Given the description of an element on the screen output the (x, y) to click on. 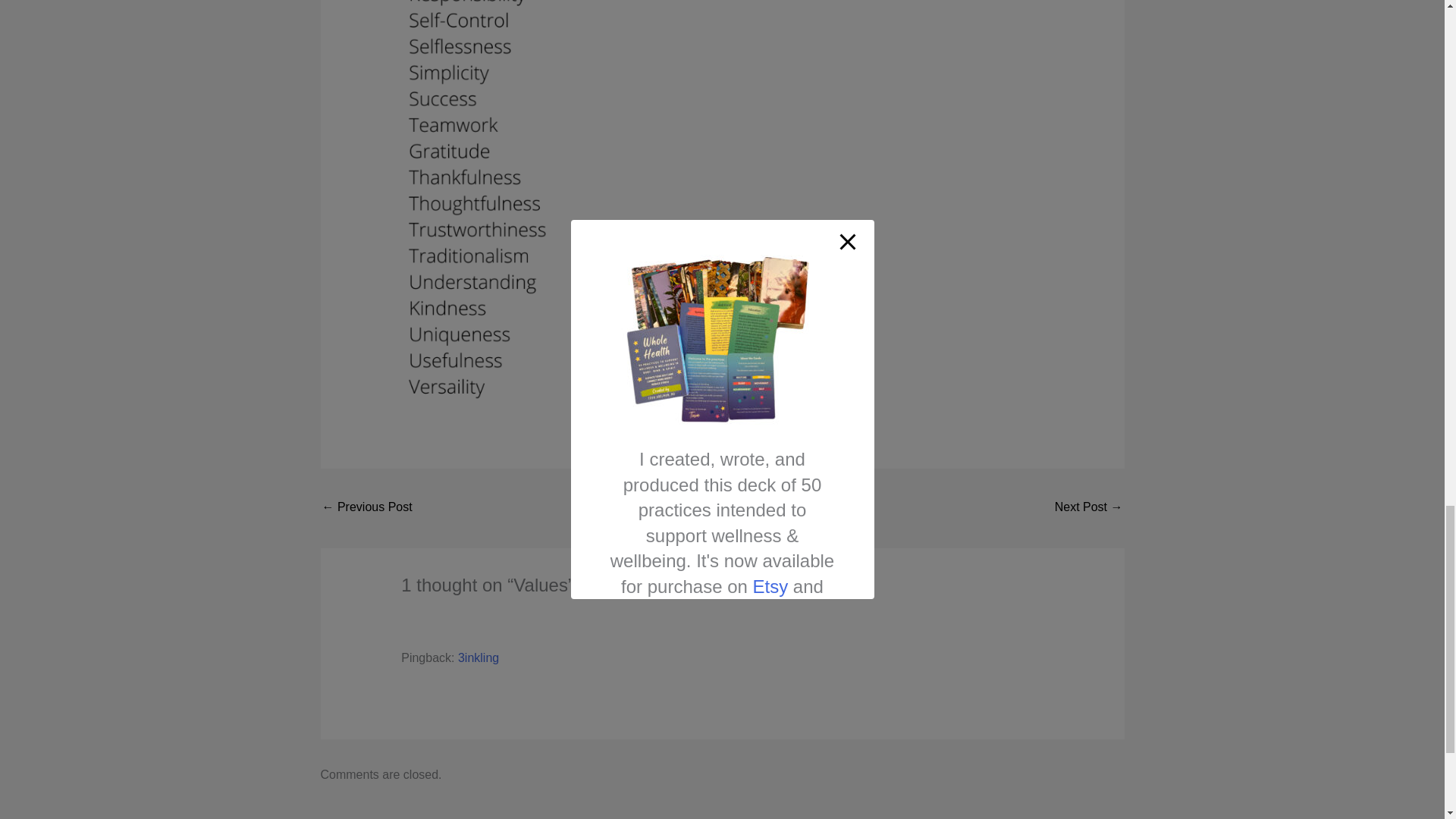
Healthy Pumpkin Pie (366, 508)
Tova Cake (1088, 508)
3inkling (478, 657)
